Given the description of an element on the screen output the (x, y) to click on. 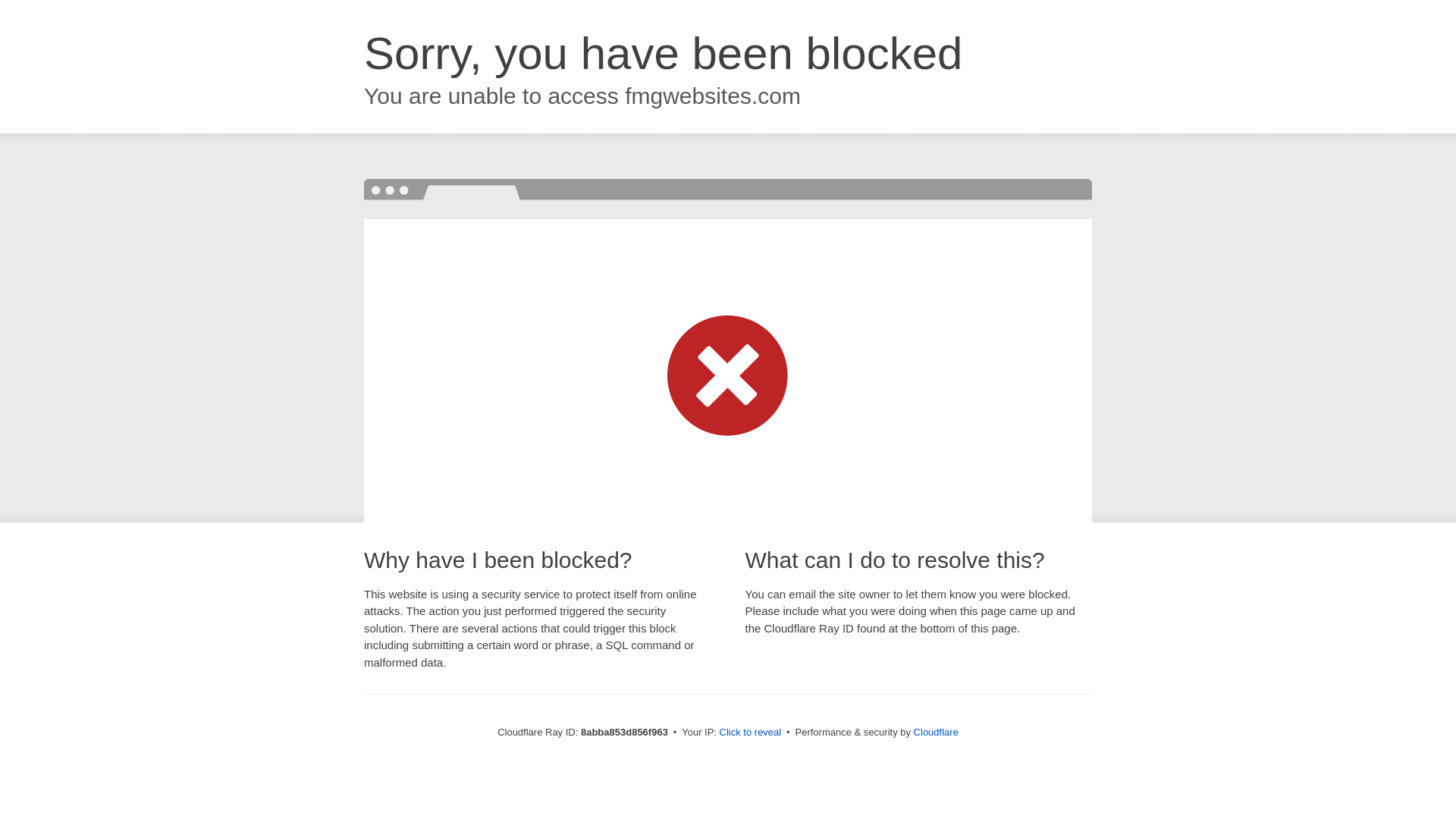
Click to reveal (750, 732)
Cloudflare (936, 731)
